Given the description of an element on the screen output the (x, y) to click on. 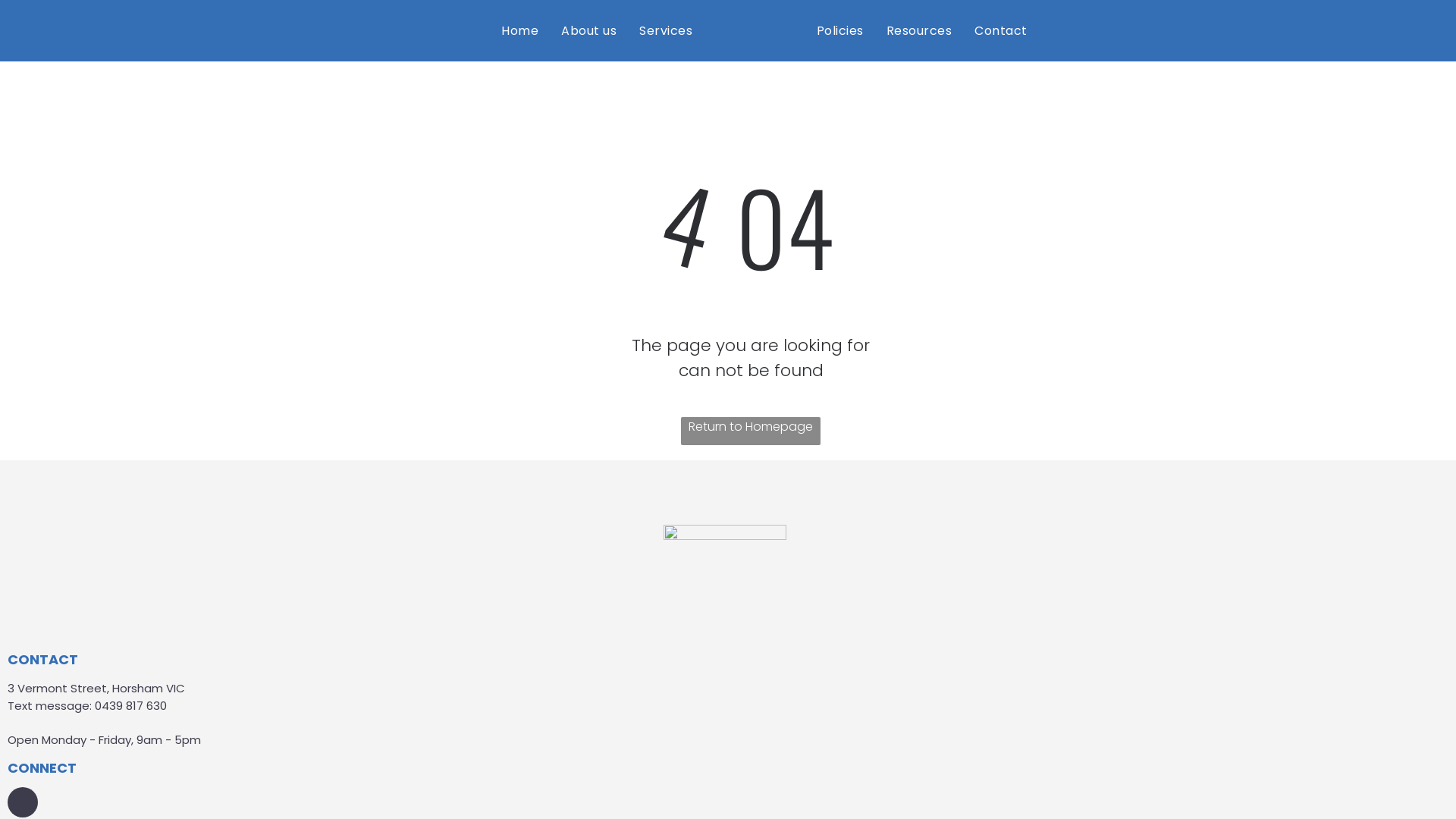
0439 817 630 Element type: text (130, 705)
Home Element type: text (519, 30)
Return to Homepage Element type: text (750, 431)
About us Element type: text (588, 30)
Contact Element type: text (1000, 30)
Resources Element type: text (919, 30)
Services Element type: text (665, 30)
Policies Element type: text (840, 30)
